Given the description of an element on the screen output the (x, y) to click on. 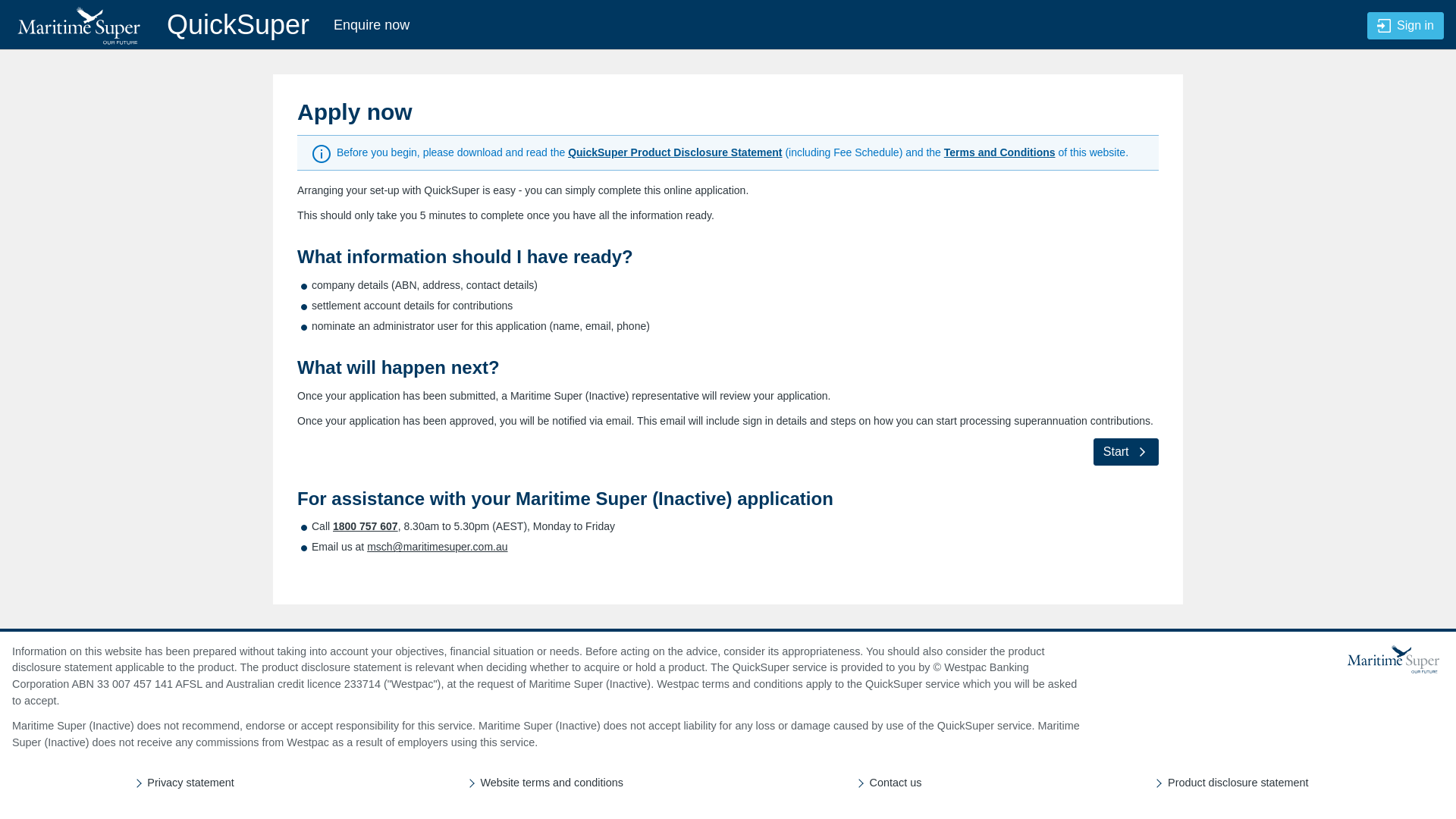
Website terms and conditions Element type: text (551, 782)
QuickSuper Product Disclosure Statement Element type: text (674, 152)
Contact us Element type: text (895, 782)
msch@maritimesuper.com.au Element type: text (437, 546)
Product disclosure statement Element type: text (1237, 782)
Enquire now Element type: text (371, 25)
Terms and Conditions Element type: text (999, 152)
1800 757 607 Element type: text (365, 526)
Privacy statement Element type: text (190, 782)
QuickSuper Element type: text (160, 25)
